Given the description of an element on the screen output the (x, y) to click on. 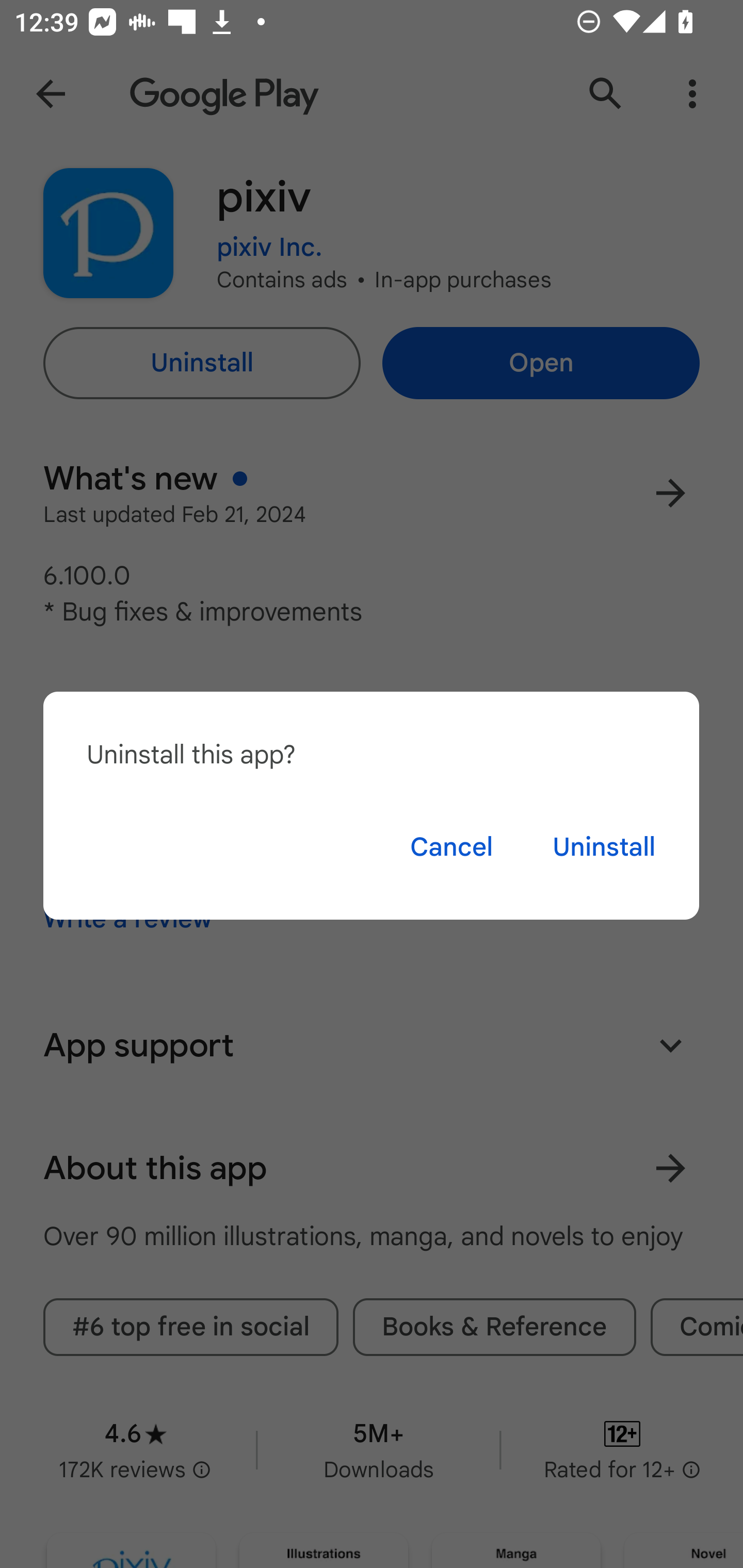
Cancel (450, 847)
Uninstall (604, 847)
